Given the description of an element on the screen output the (x, y) to click on. 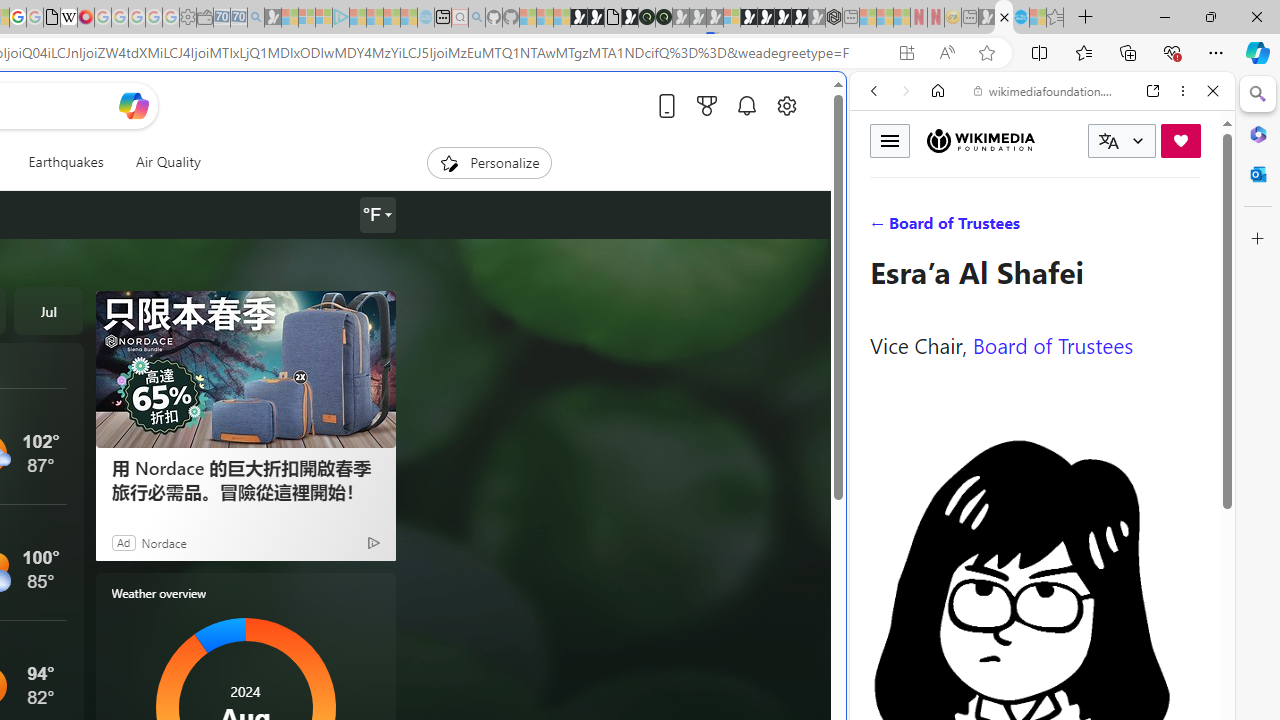
Air Quality (167, 162)
CURRENT LANGUAGE: (1121, 141)
Donate now (1180, 140)
Settings - Sleeping (187, 17)
Target page - Wikipedia (68, 17)
Wikimedia Foundation (980, 141)
Favorites - Sleeping (1055, 17)
